Given the description of an element on the screen output the (x, y) to click on. 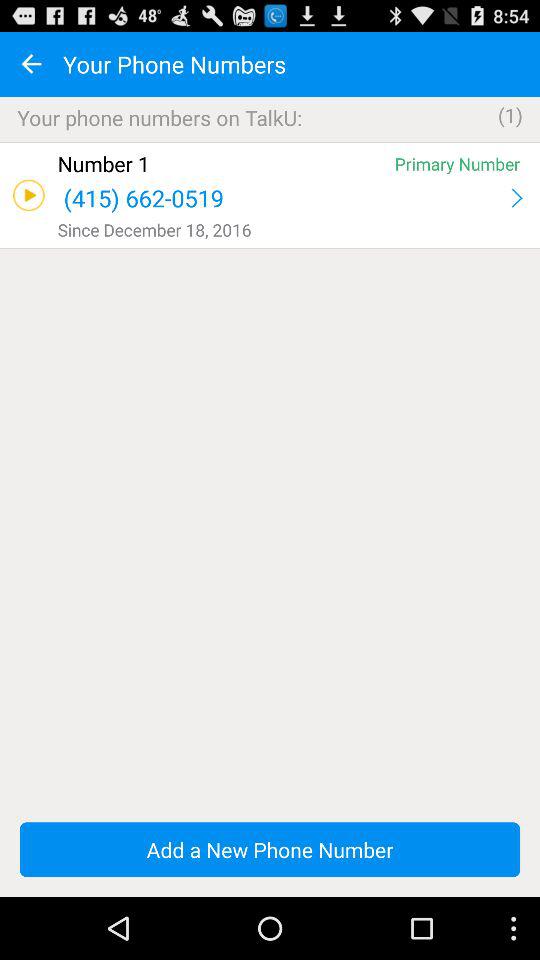
turn on the app above  (415) 662-0519 app (457, 163)
